Given the description of an element on the screen output the (x, y) to click on. 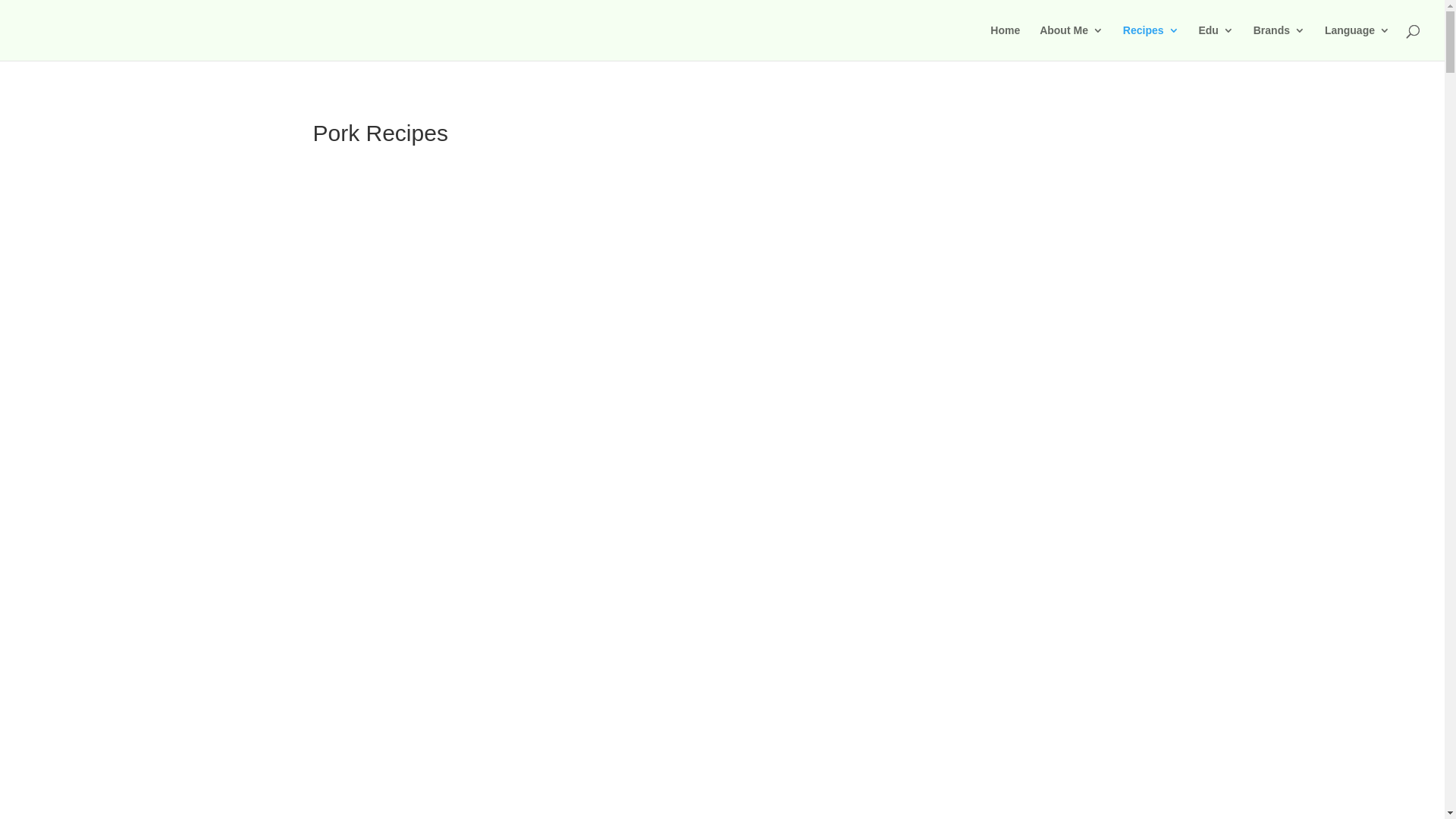
About Me Element type: text (1071, 42)
Recipes Element type: text (1151, 42)
Language Element type: text (1357, 42)
Home Element type: text (1004, 42)
Edu Element type: text (1215, 42)
Brands Element type: text (1279, 42)
